Given the description of an element on the screen output the (x, y) to click on. 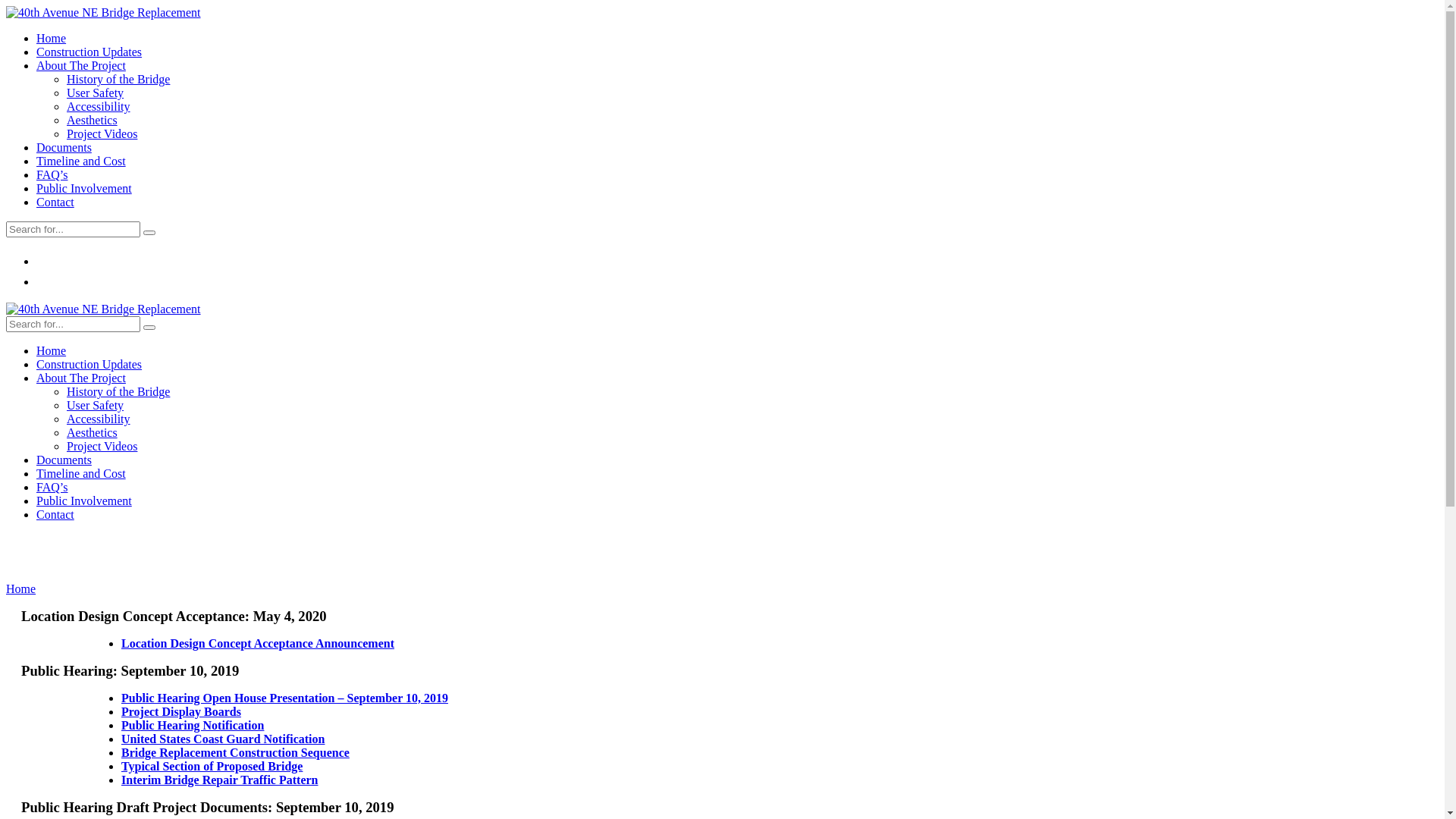
Timeline and Cost Element type: text (80, 473)
About The Project Element type: text (80, 65)
Project Videos Element type: text (101, 133)
Public Involvement Element type: text (83, 500)
Contact Element type: text (55, 514)
Public Hearing Notification Element type: text (192, 724)
Timeline and Cost Element type: text (80, 160)
Typical Section of Proposed Bridge Element type: text (211, 765)
Construction Updates Element type: text (88, 363)
United States Coast Guard Notification Element type: text (222, 738)
History of the Bridge Element type: text (117, 78)
Home Element type: text (20, 588)
History of the Bridge Element type: text (117, 391)
User Safety Element type: text (94, 92)
Accessibility Element type: text (98, 106)
Project Videos Element type: text (101, 445)
Home Element type: text (50, 37)
Aesthetics Element type: text (91, 432)
Public Involvement Element type: text (83, 188)
Home Element type: text (50, 350)
Construction Updates Element type: text (88, 51)
Documents Element type: text (63, 147)
Contact Element type: text (55, 201)
Interim Bridge Repair Traffic Pattern Element type: text (219, 779)
Accessibility Element type: text (98, 418)
Location Design Concept Acceptance Announcement Element type: text (257, 643)
Documents Element type: text (63, 459)
Project Display Boards Element type: text (181, 711)
Aesthetics Element type: text (91, 119)
About The Project Element type: text (80, 377)
User Safety Element type: text (94, 404)
Bridge Replacement Construction Sequence Element type: text (235, 752)
